Given the description of an element on the screen output the (x, y) to click on. 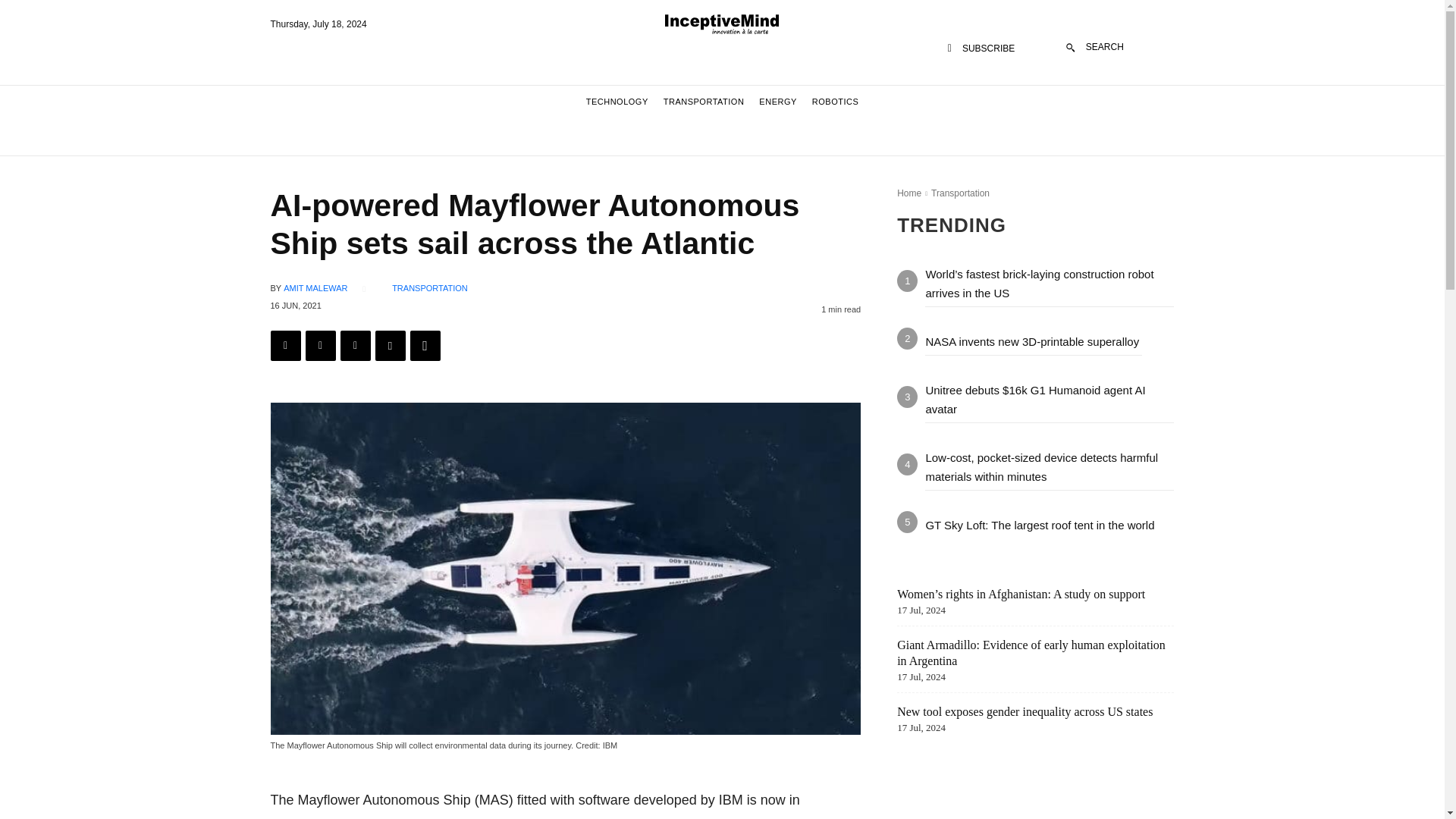
ENERGY (777, 101)
SUBSCRIBE (980, 48)
NASA invents new 3D-printable superalloy  (1032, 341)
TRANSPORTATION (429, 288)
Email (389, 345)
Home (908, 193)
AMIT MALEWAR (315, 288)
GT Sky Loft: The largest roof tent in the world (1039, 524)
SEARCH (1094, 46)
SUBSCRIBE (980, 48)
Linkedin (354, 345)
WhatsApp (424, 345)
ROBOTICS (834, 101)
SEARCH (1094, 46)
